Given the description of an element on the screen output the (x, y) to click on. 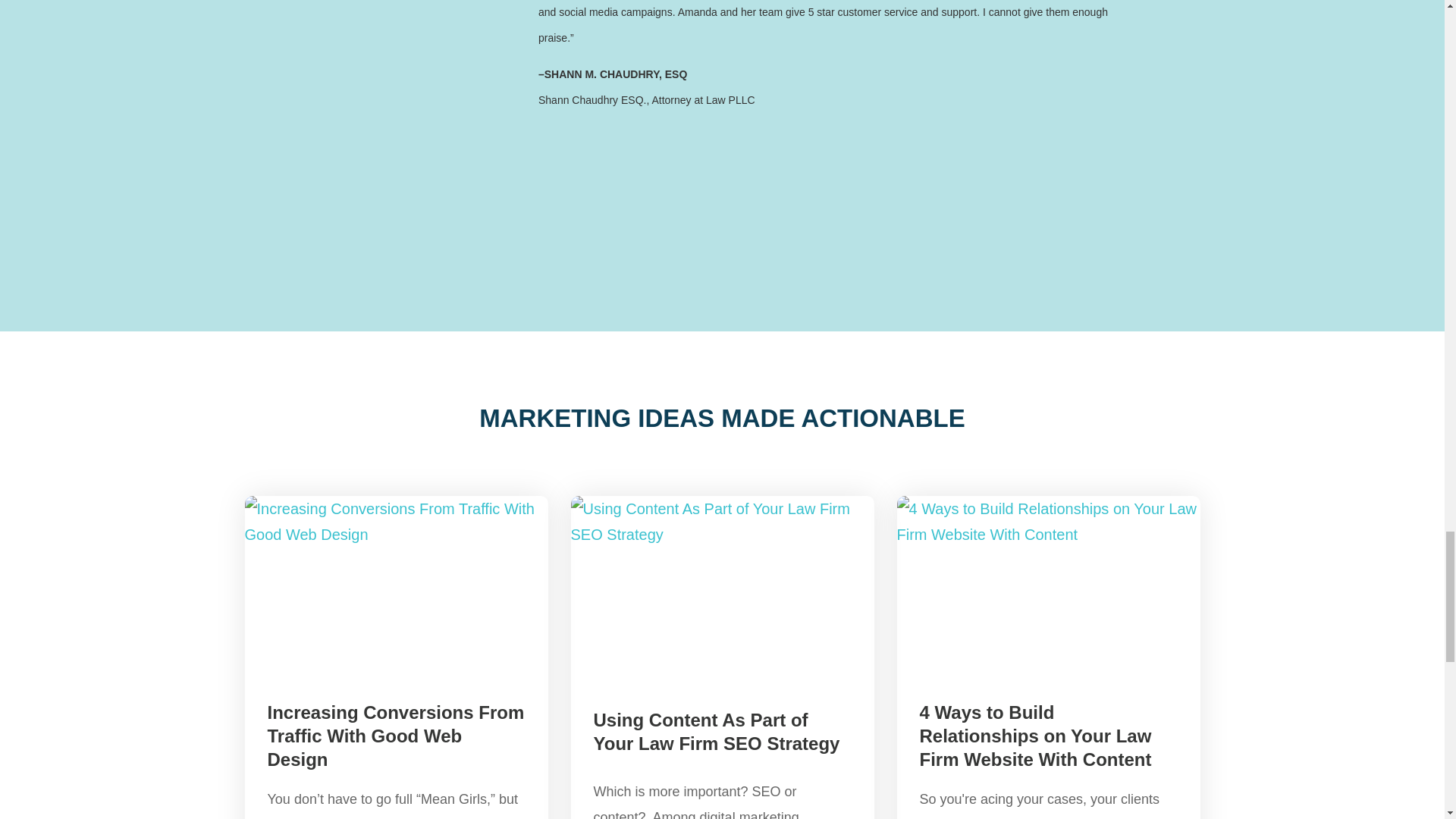
Increasing Conversions From Traffic With Good Web Design (395, 735)
Using Content As Part of Your Law Firm SEO Strategy (716, 731)
